Given the description of an element on the screen output the (x, y) to click on. 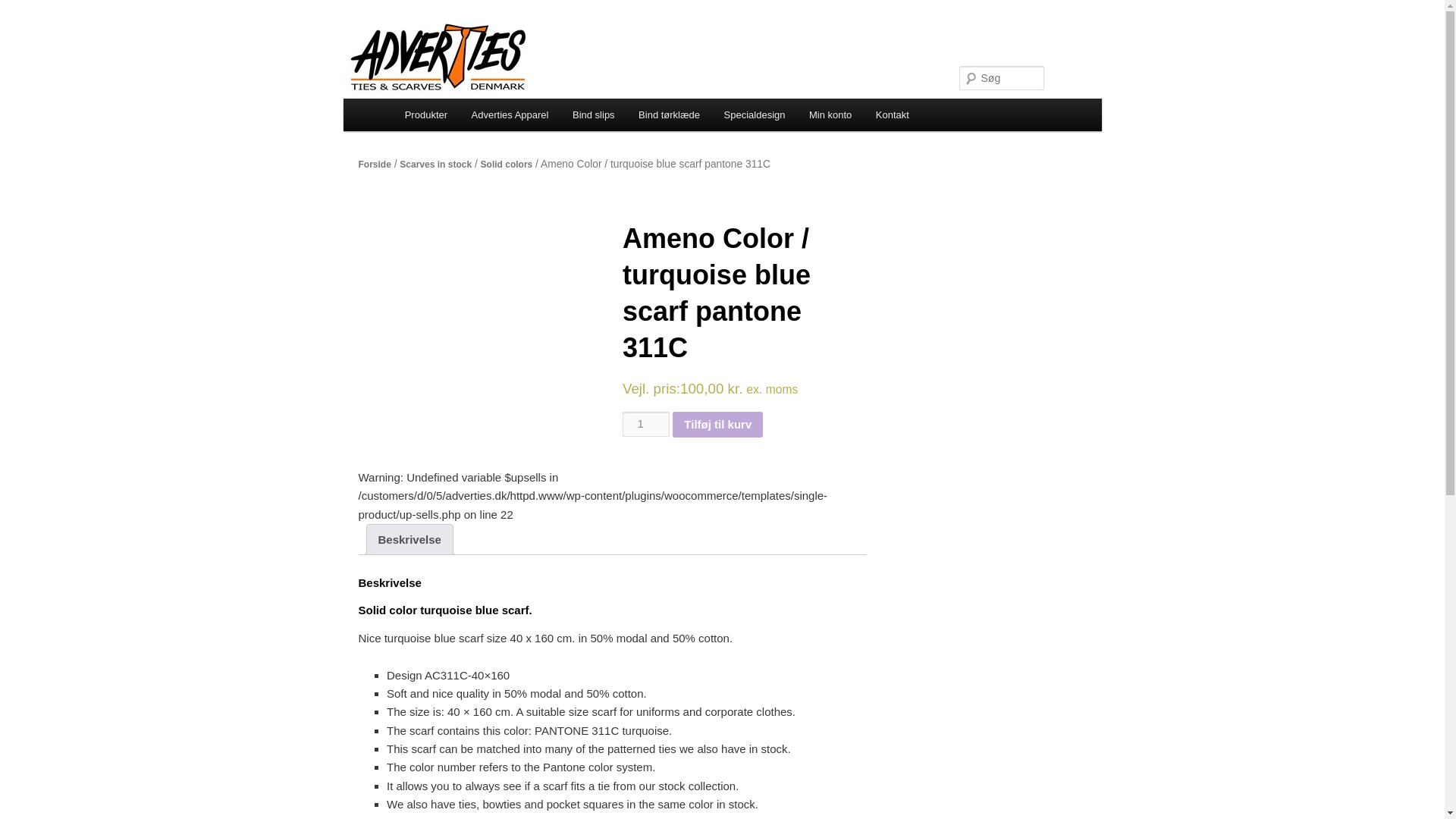
Produkter (426, 114)
Adverties (451, 77)
1 (646, 423)
